Given the description of an element on the screen output the (x, y) to click on. 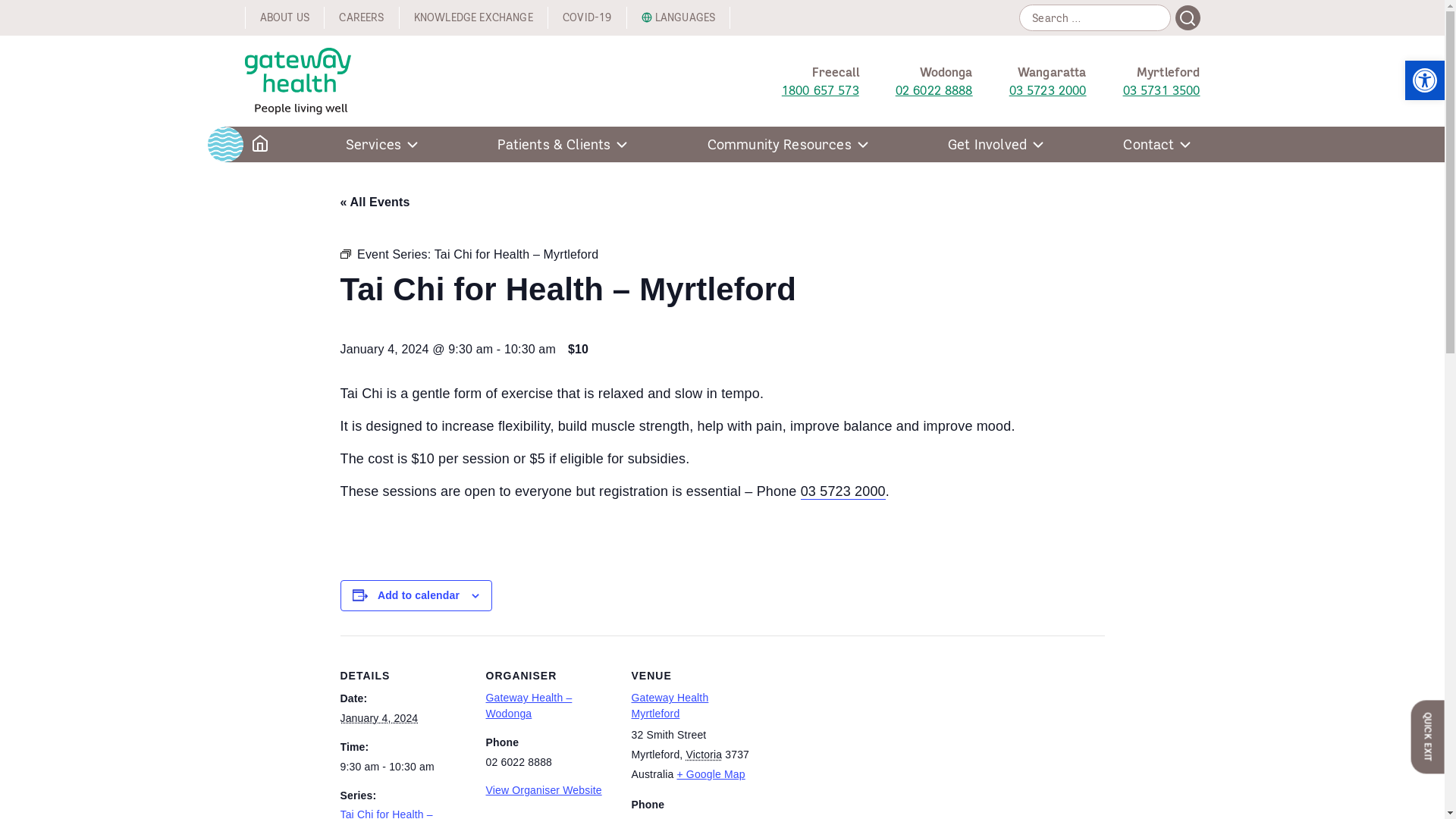
Gateway Health Myrtleford Element type: text (669, 705)
Add to calendar Element type: text (418, 595)
Search Element type: text (1187, 17)
03 5731 3500 Element type: text (1161, 89)
1800 657 573 Element type: text (820, 89)
KNOWLEDGE EXCHANGE Element type: text (472, 17)
LANGUAGES Element type: text (678, 17)
Patients & Clients Element type: text (563, 144)
ABOUT US Element type: text (283, 17)
Community Resources Element type: text (789, 144)
02 6022 8888 Element type: text (933, 89)
COVID-19 Element type: text (586, 17)
Search for: Element type: hover (1094, 17)
View Organiser Website Element type: text (543, 790)
03 5723 2000 Element type: text (842, 491)
+ Google Map Element type: text (710, 774)
Get Involved Element type: text (996, 144)
03 5723 2000 Element type: text (1047, 89)
Services Element type: text (382, 144)
Home Element type: text (259, 144)
Contact Element type: text (1158, 144)
Open toolbar
Accessibility Tools Element type: text (1424, 80)
CAREERS Element type: text (360, 17)
